Given the description of an element on the screen output the (x, y) to click on. 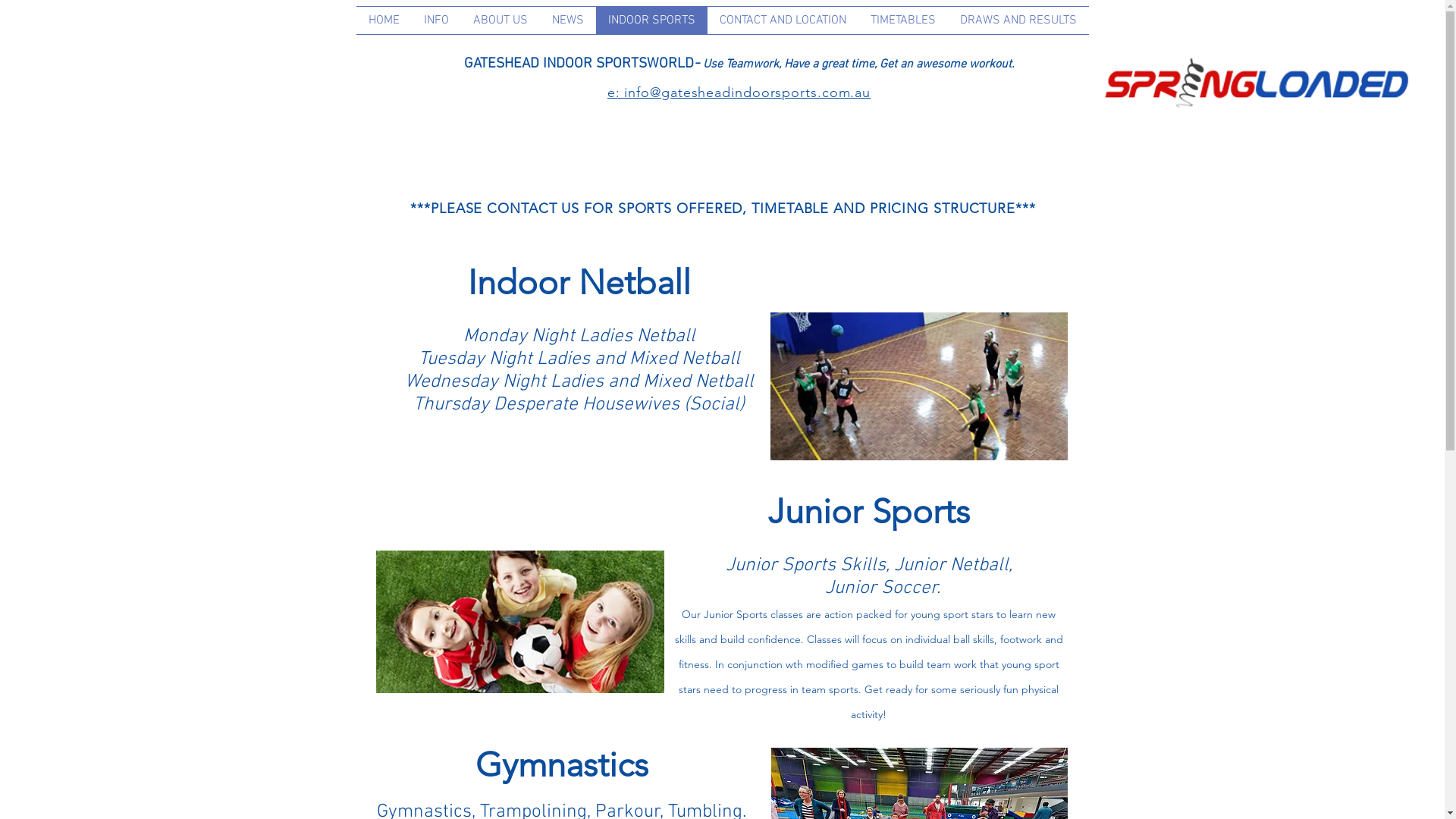
INFO Element type: text (435, 20)
TIMETABLES Element type: text (902, 20)
HOME Element type: text (383, 20)
e: info@gatesheadindoorsports.com.au Element type: text (738, 92)
Embedded Content Element type: hover (1060, 62)
DRAWS AND RESULTS Element type: text (1017, 20)
NEWS Element type: text (567, 20)
springlogo.png Element type: hover (1254, 81)
INDOOR SPORTS Element type: text (651, 20)
CONTACT AND LOCATION Element type: text (781, 20)
ABOUT US Element type: text (500, 20)
